Given the description of an element on the screen output the (x, y) to click on. 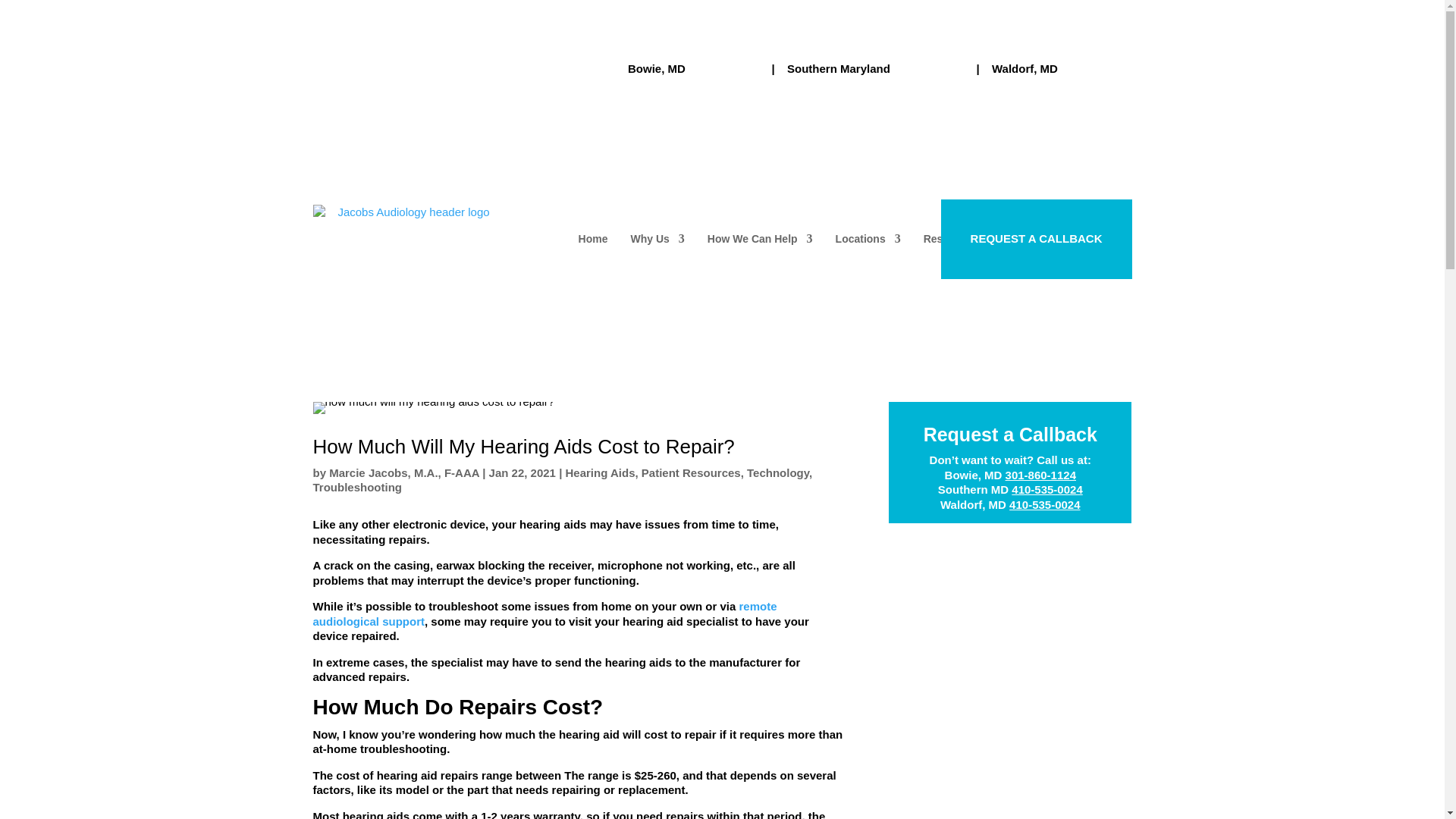
301-860-1124 (723, 68)
how much will my hearing aids cost to repair? (433, 408)
How We Can Help (759, 238)
Patient Resources (691, 472)
REQUEST A CALLBACK (1036, 238)
Posts by Marcie Jacobs, M.A., F-AAA (404, 472)
Technology (777, 472)
Hearing Aids (600, 472)
410-535-0024 (1096, 68)
Marcie Jacobs, M.A., F-AAA (404, 472)
